Given the description of an element on the screen output the (x, y) to click on. 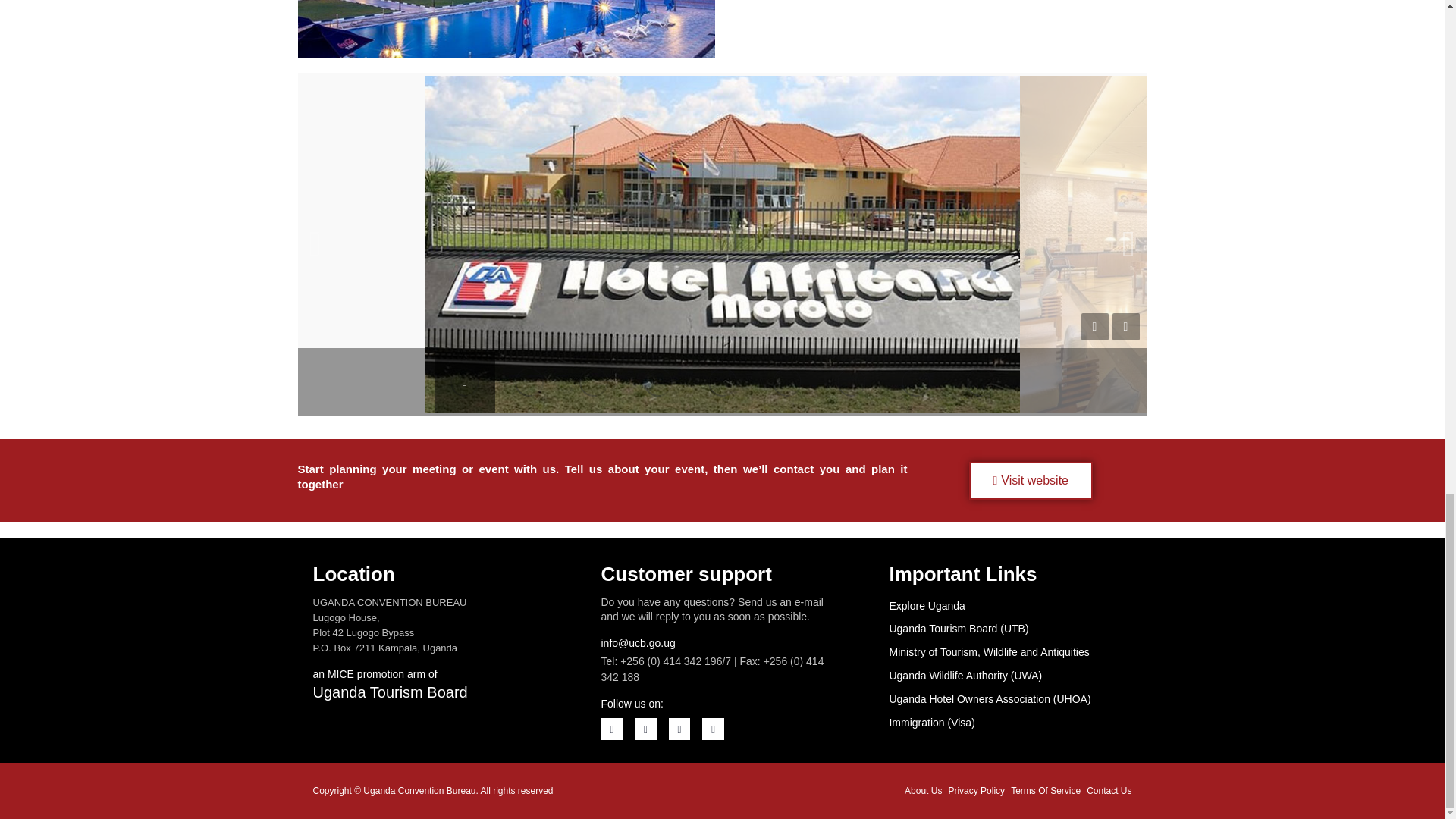
Explore Uganda (1009, 606)
Ministry of Tourism, Wildlife and Antiquities (1009, 652)
Visit website (1031, 480)
